Given the description of an element on the screen output the (x, y) to click on. 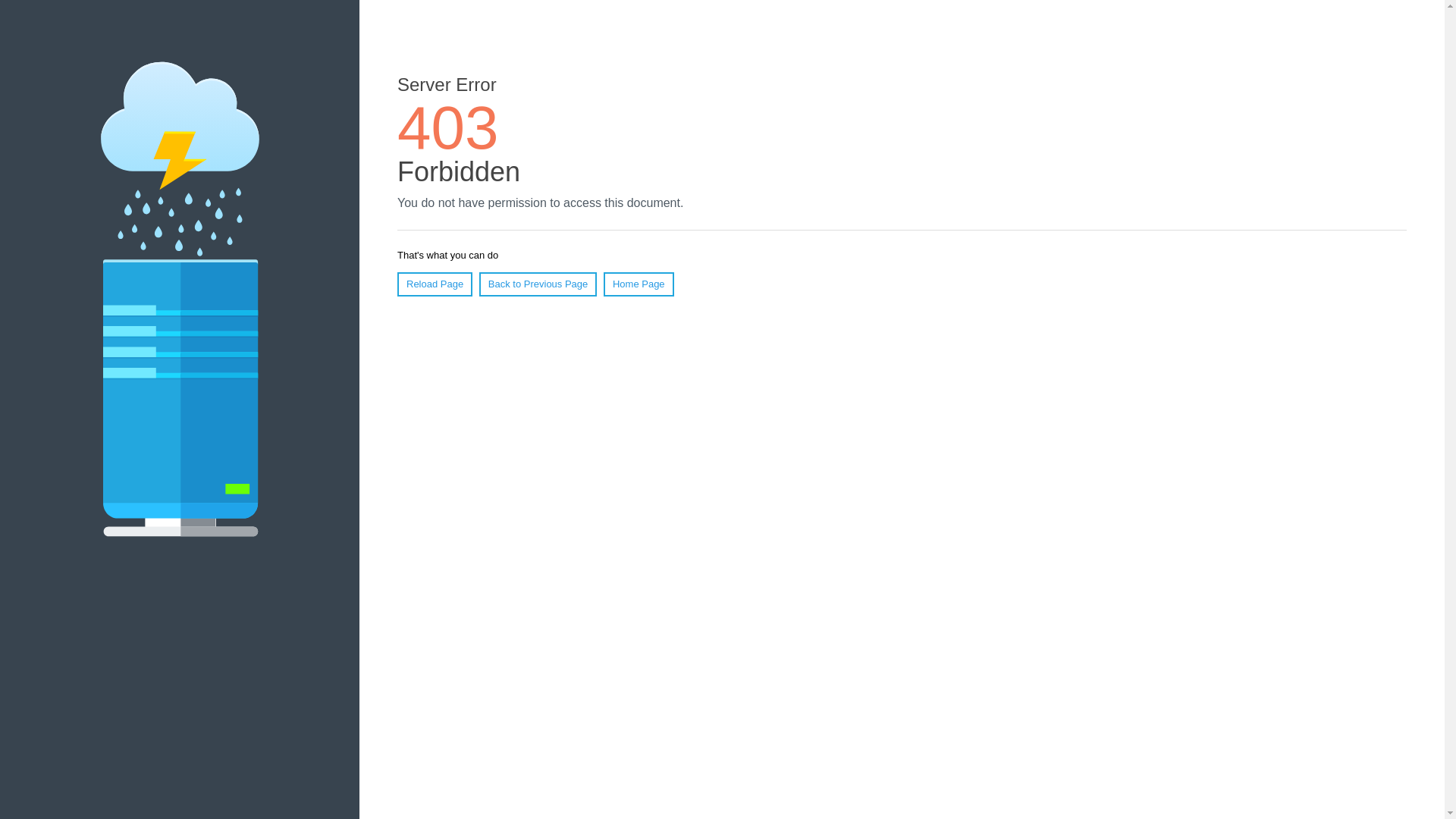
Home Page (639, 283)
Back to Previous Page (537, 283)
Reload Page (434, 283)
